Given the description of an element on the screen output the (x, y) to click on. 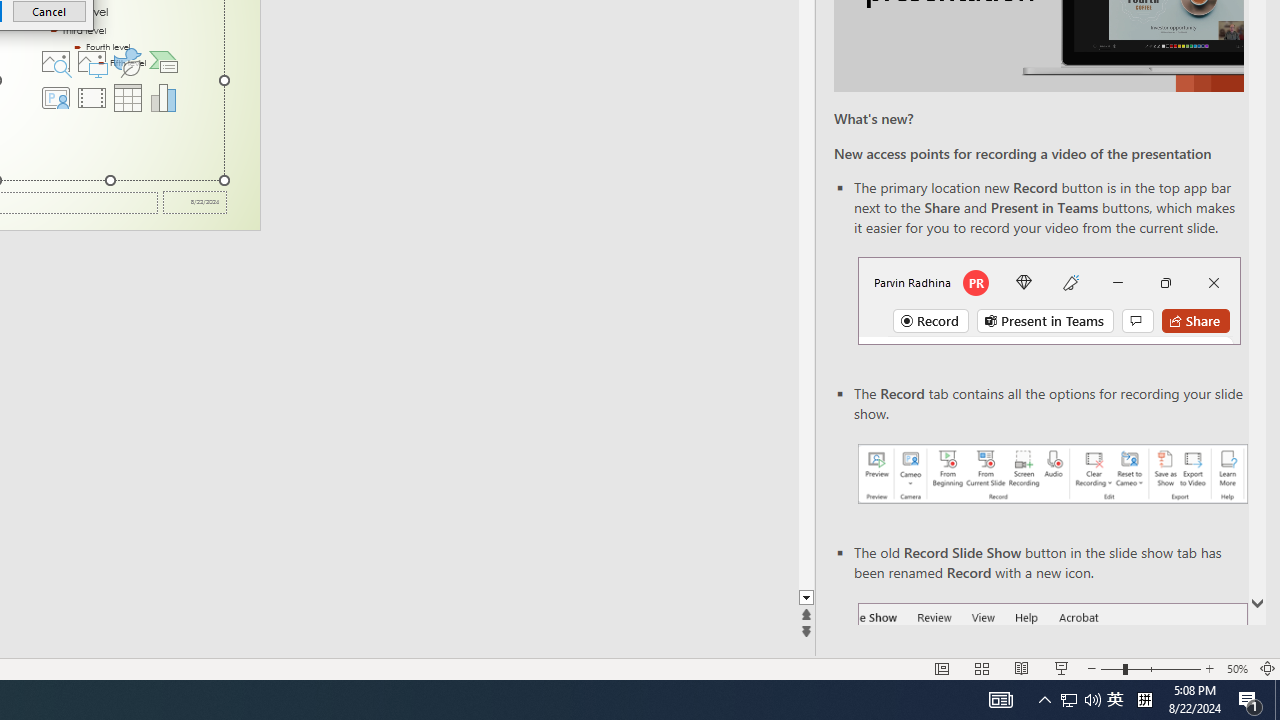
Record button in top bar (1049, 300)
Insert Chart (164, 97)
